Given the description of an element on the screen output the (x, y) to click on. 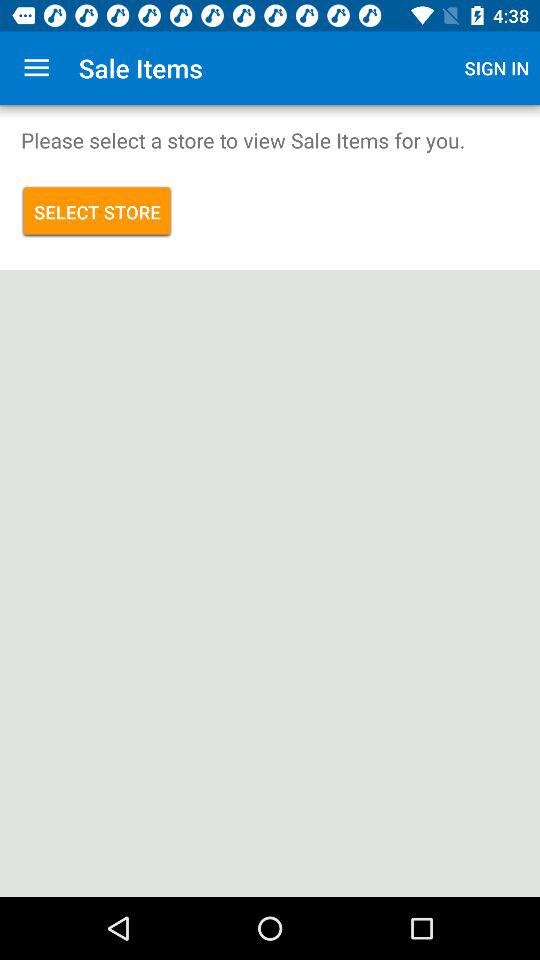
open icon to the left of sale items item (36, 68)
